Given the description of an element on the screen output the (x, y) to click on. 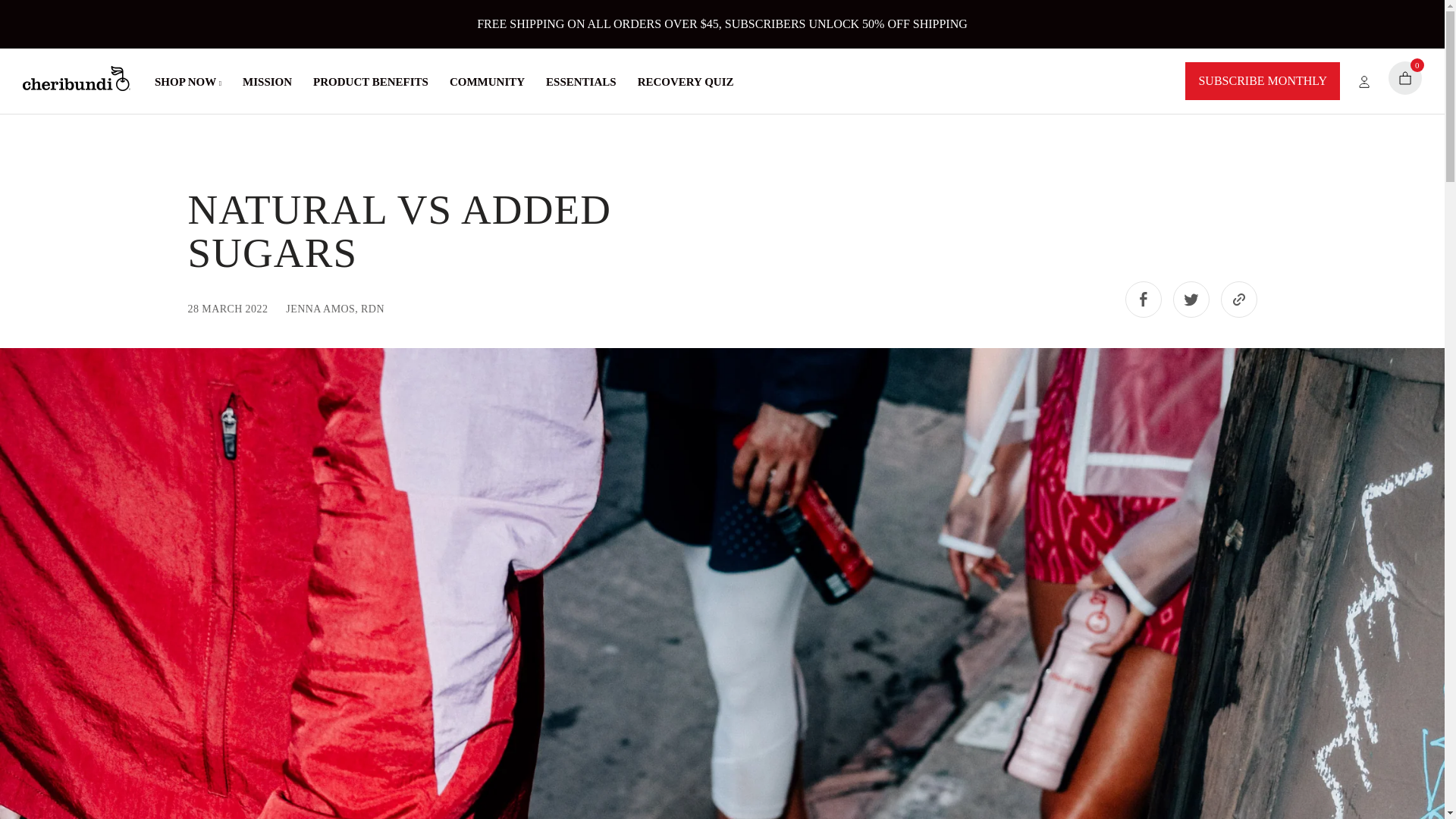
SHOP NOW (187, 81)
SUBSCRIBE MONTHLY (1262, 80)
ESSENTIALS (580, 81)
login - logout (1354, 81)
MISSION (267, 81)
COMMUNITY (486, 81)
PRODUCT BENEFITS (370, 81)
Cart (1405, 78)
RECOVERY QUIZ (685, 81)
0 (1405, 78)
